Given the description of an element on the screen output the (x, y) to click on. 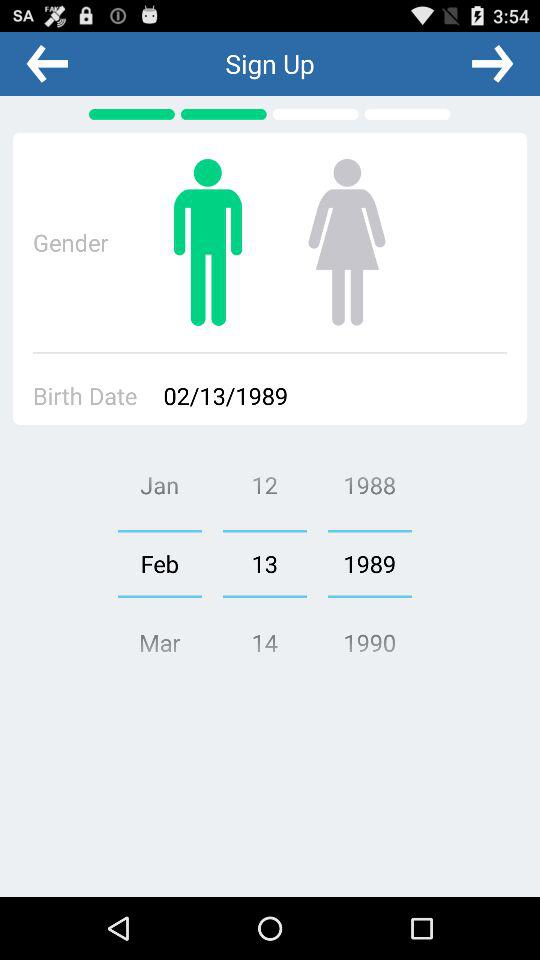
press the app to the right of sign up (492, 63)
